Given the description of an element on the screen output the (x, y) to click on. 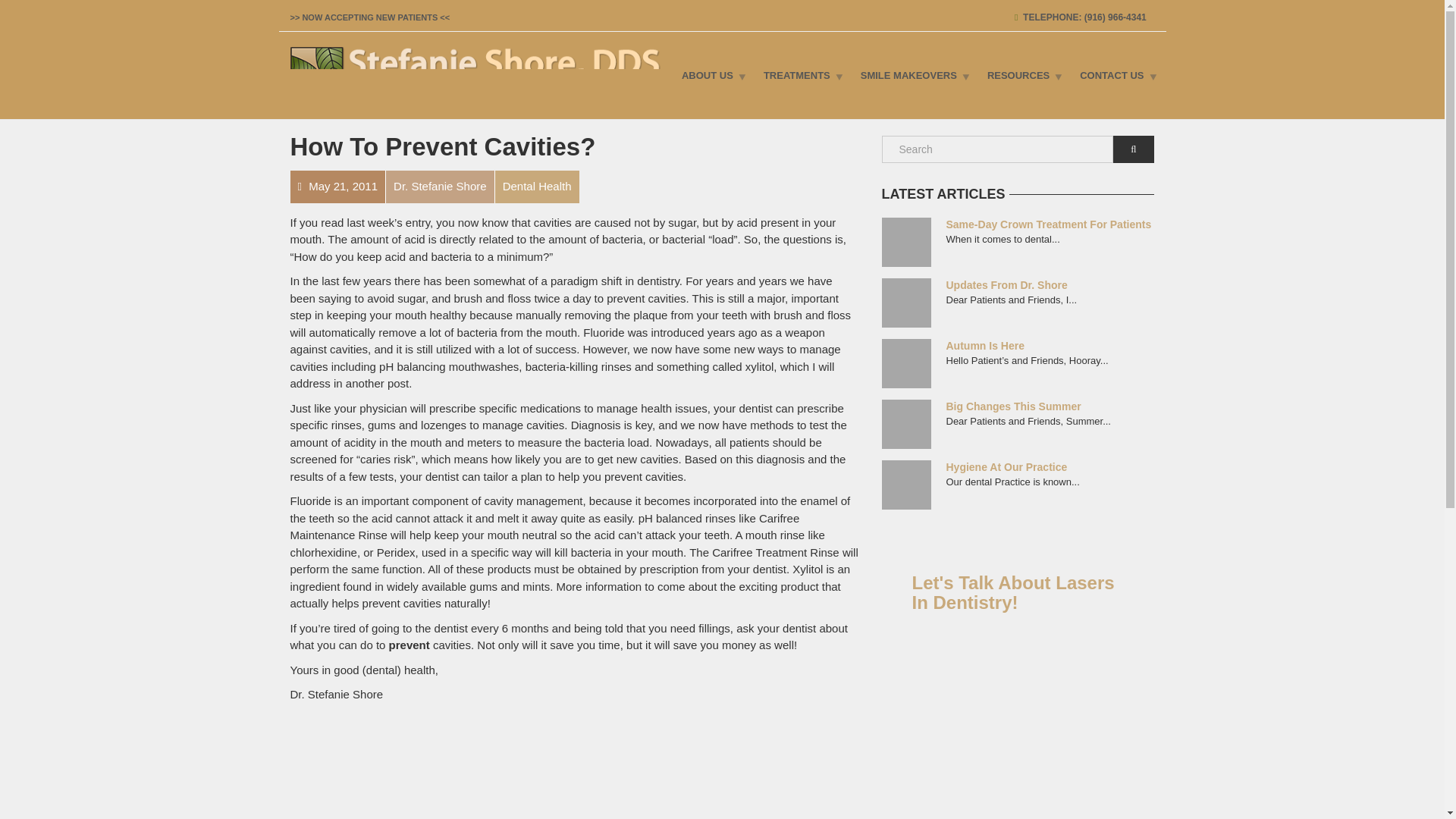
SMILE MAKEOVERS (911, 75)
Treatments (800, 75)
TREATMENTS (800, 75)
About Us (710, 75)
ABOUT US (710, 75)
RESOURCES (1021, 75)
